Given the description of an element on the screen output the (x, y) to click on. 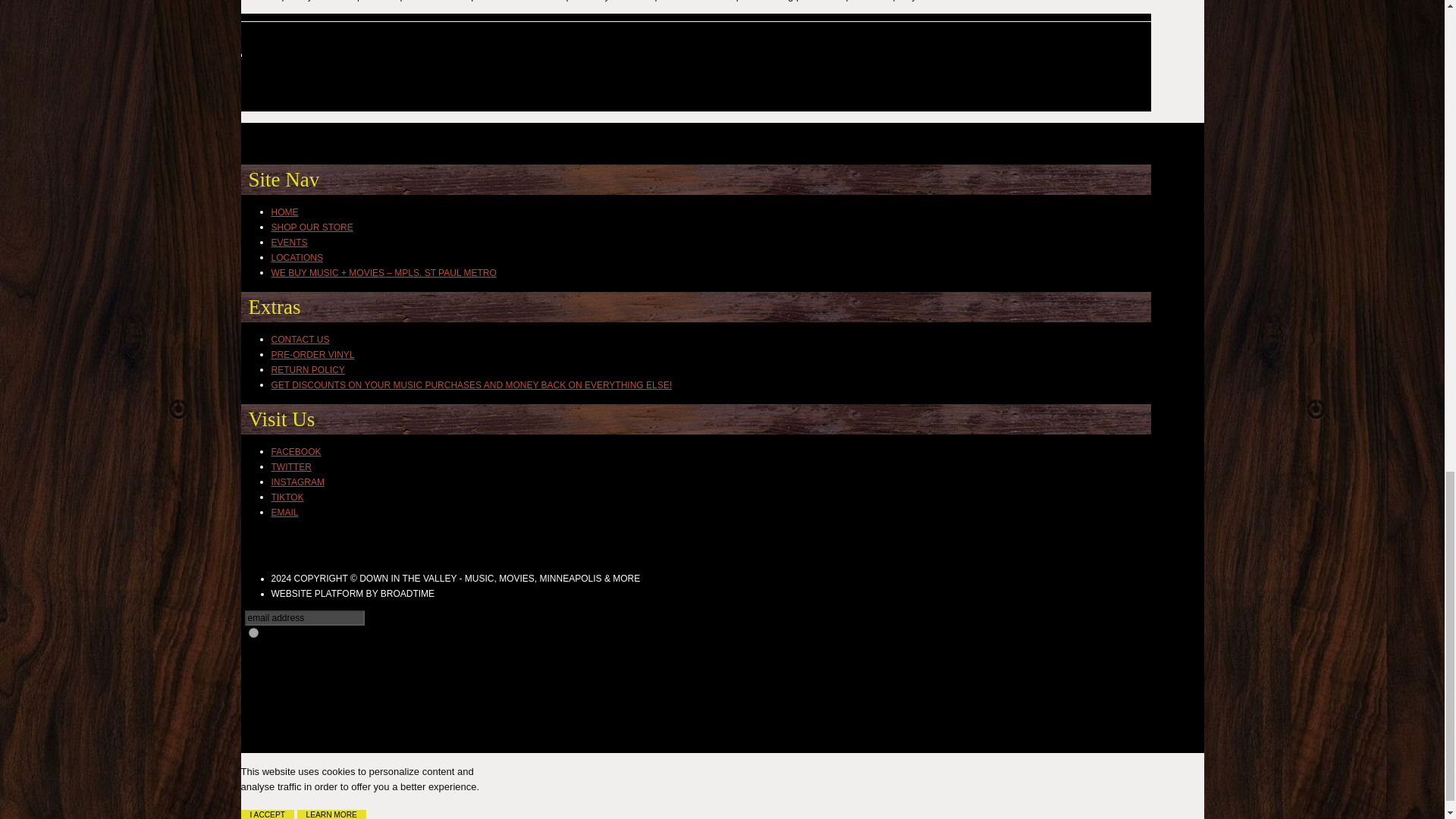
on (253, 633)
on (328, 206)
